Given the description of an element on the screen output the (x, y) to click on. 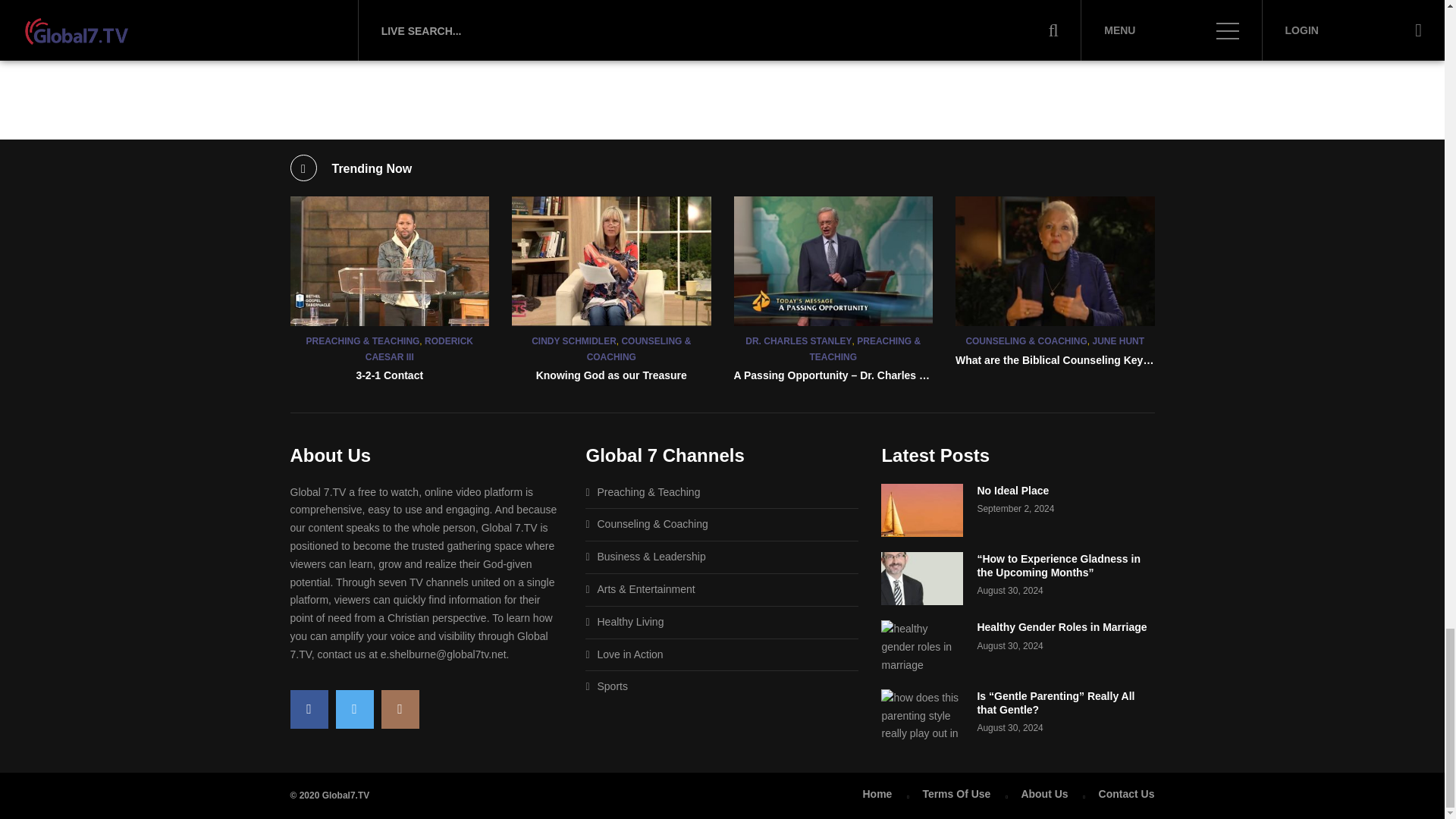
Cindy Schmidler (611, 260)
3-2-1 Contact (389, 260)
3-2-1 Contact (389, 375)
